Given the description of an element on the screen output the (x, y) to click on. 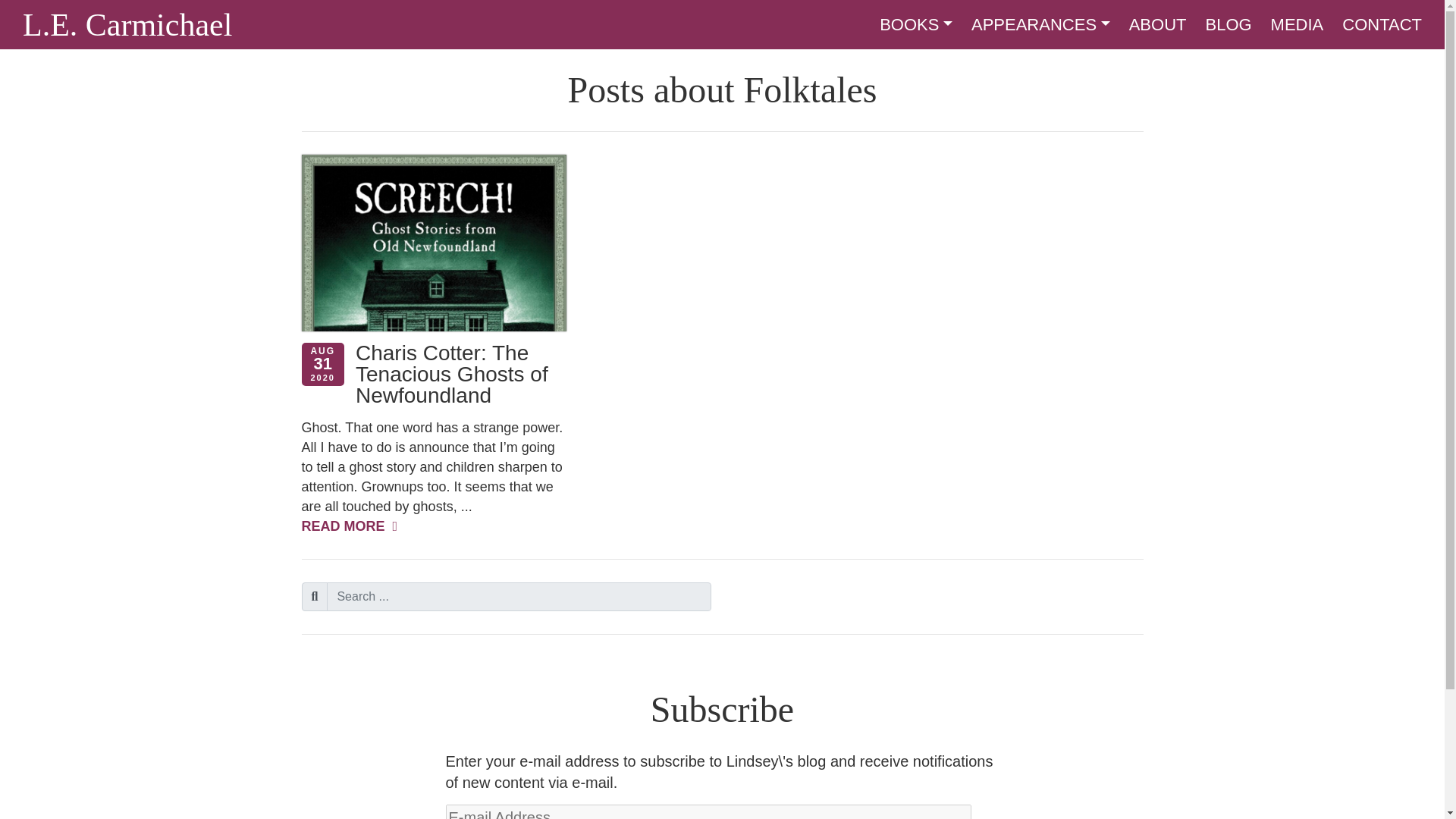
Books (915, 24)
L.E. Carmichael (127, 30)
Charis Cotter: The Tenacious Ghosts of Newfoundland (451, 374)
Media (1297, 24)
Charis Cotter: The Tenacious Ghosts of Newfoundland (451, 374)
CONTACT (1382, 24)
About (1157, 24)
BOOKS (915, 24)
MEDIA (1297, 24)
READ MORE   (349, 525)
